Given the description of an element on the screen output the (x, y) to click on. 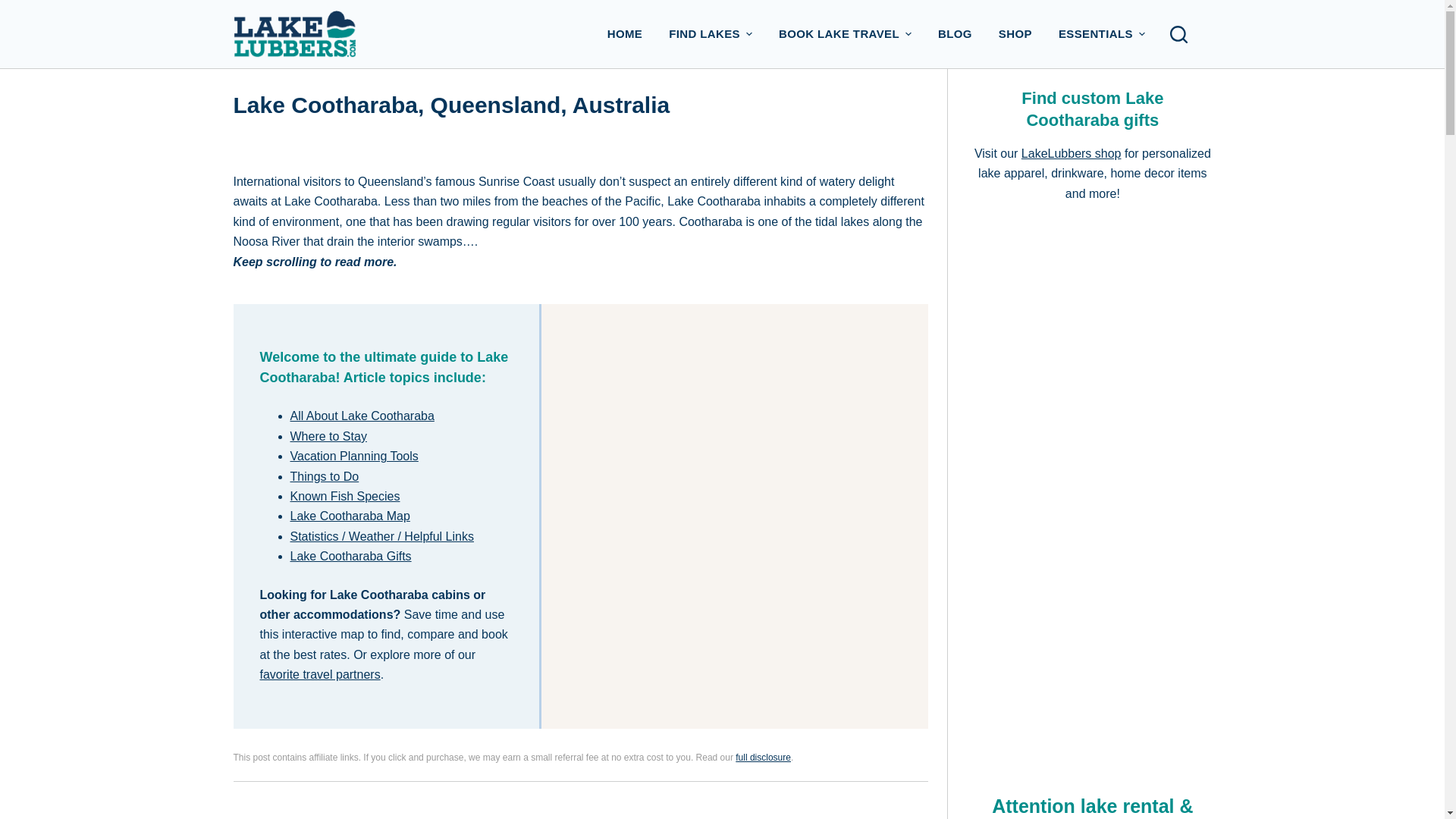
Skip to content (15, 7)
HOME (625, 33)
BOOK LAKE TRAVEL (844, 33)
FIND LAKES (710, 33)
